Given the description of an element on the screen output the (x, y) to click on. 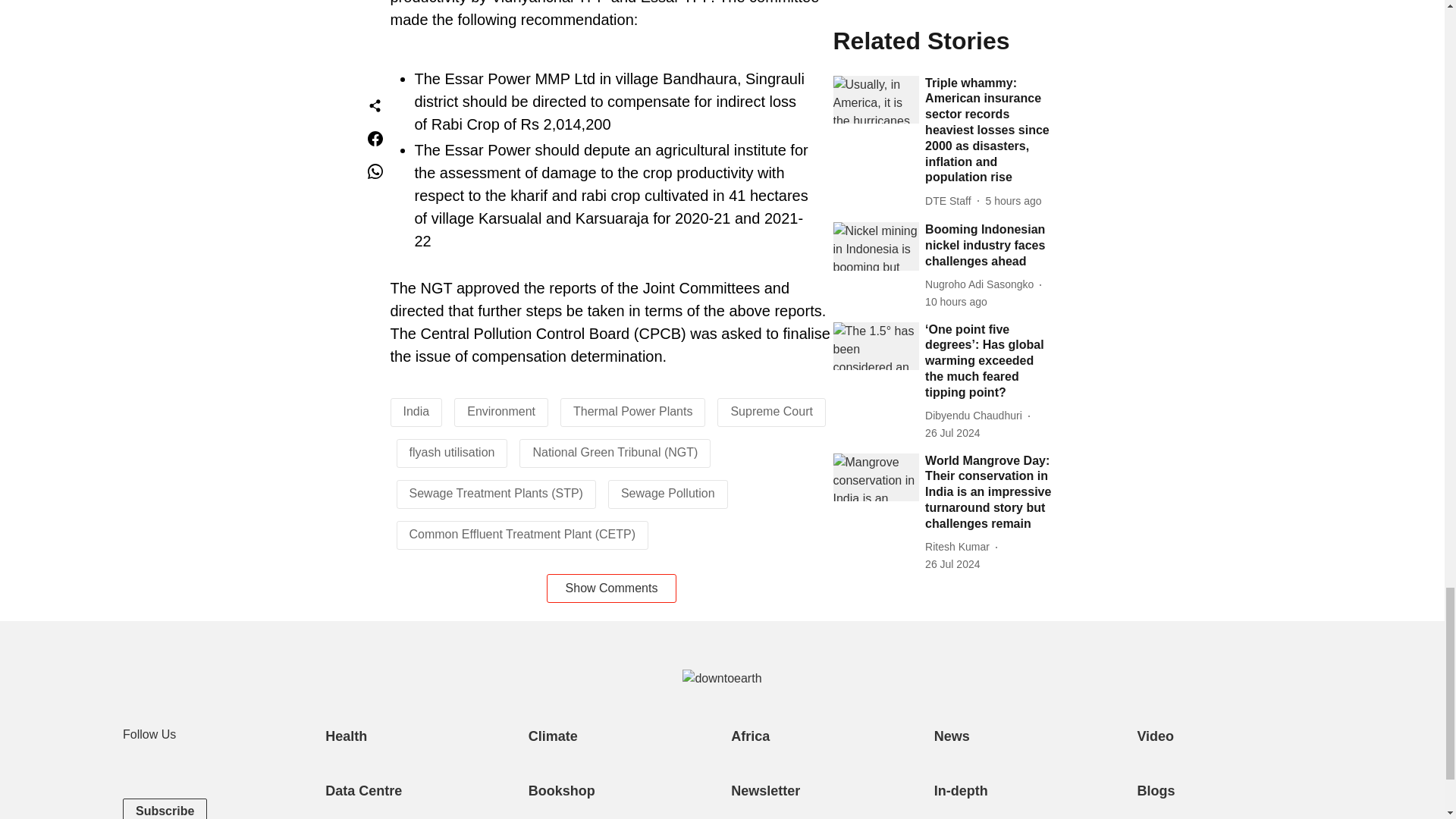
Thermal Power Plants (633, 410)
India (416, 410)
Environment (501, 410)
Supreme Court (771, 410)
